Given the description of an element on the screen output the (x, y) to click on. 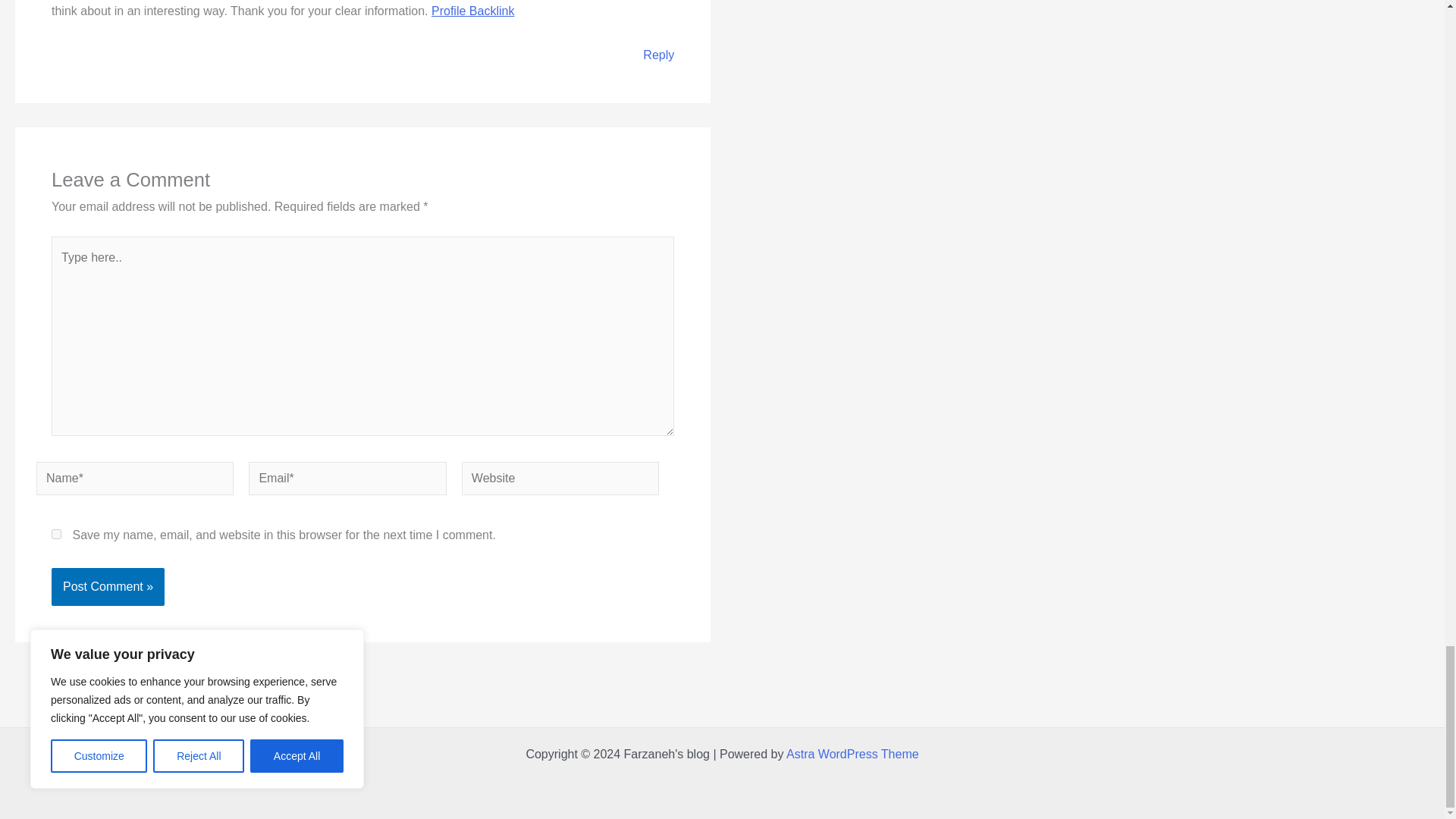
yes (55, 533)
